Given the description of an element on the screen output the (x, y) to click on. 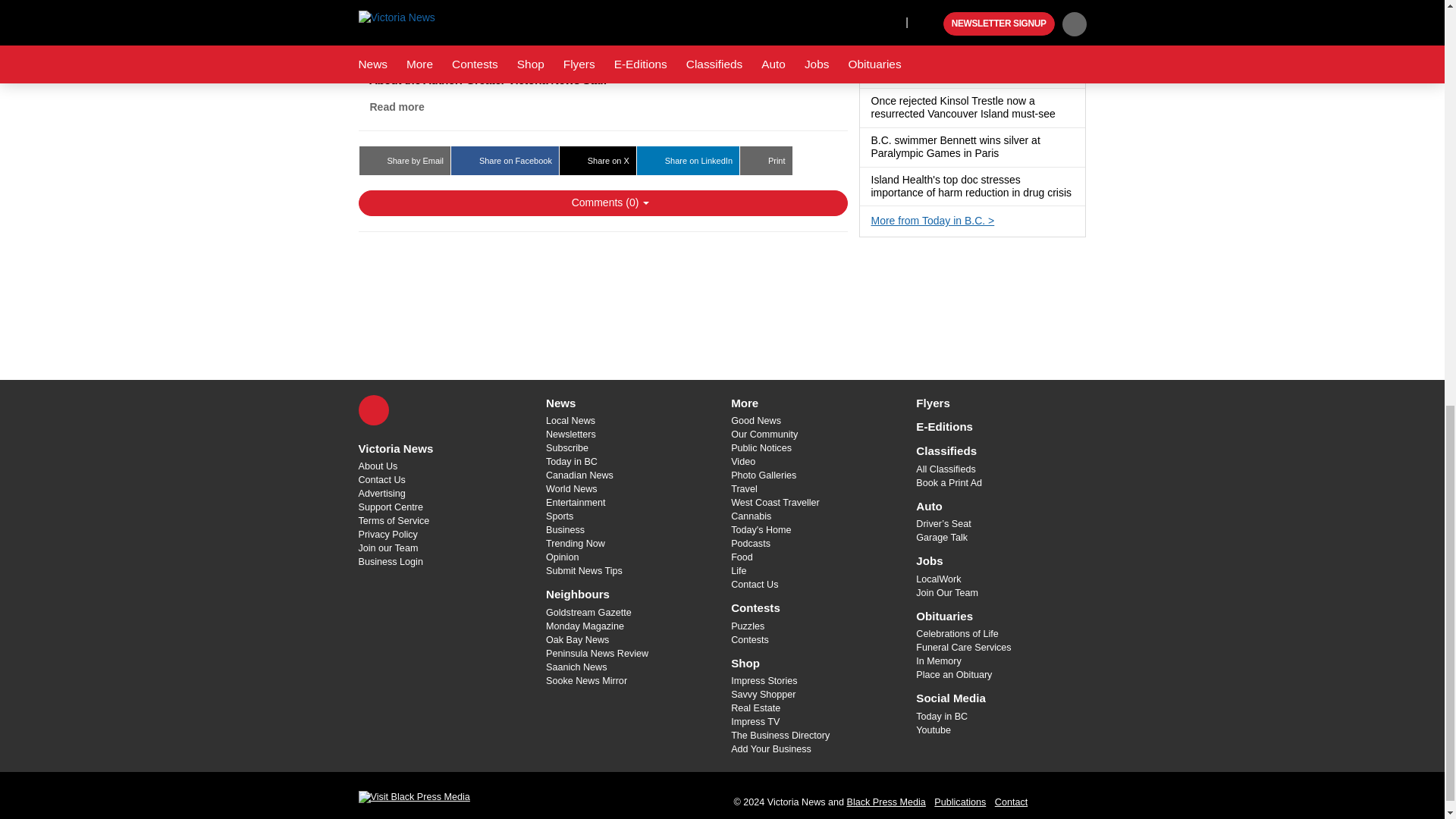
Show Comments (602, 203)
Has a gallery (1064, 114)
X (373, 409)
